Given the description of an element on the screen output the (x, y) to click on. 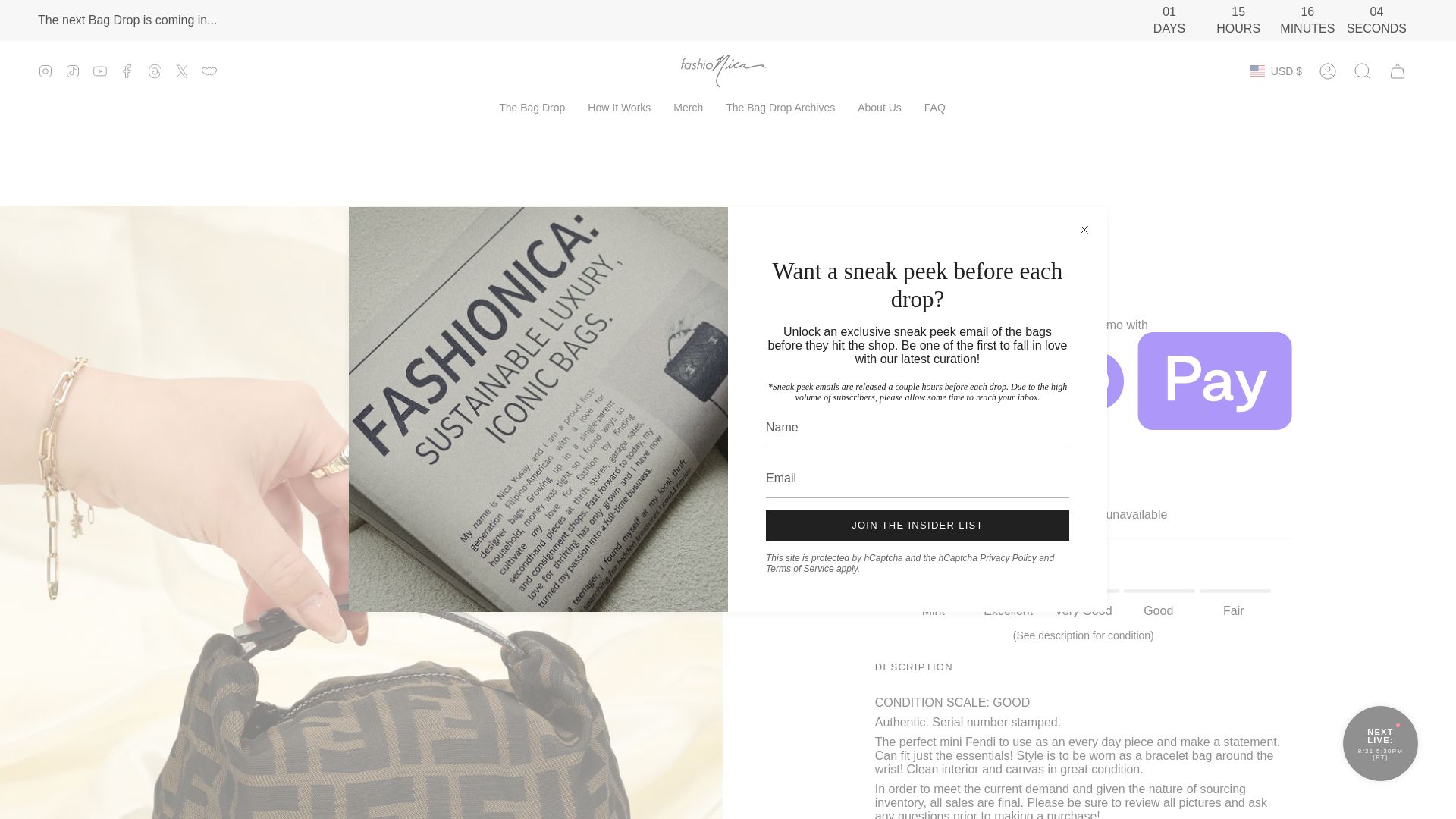
FashioNica on Twitter (181, 69)
FashioNica on YouTube (100, 69)
FashioNica on Threads (154, 69)
FashioNica on TikTok (72, 69)
My Account (1327, 71)
FashioNica on Facebook (127, 69)
Search (1362, 71)
Cart (1397, 71)
FashioNica on Instagram (44, 69)
FashioNica on Whatnot (209, 69)
